Given the description of an element on the screen output the (x, y) to click on. 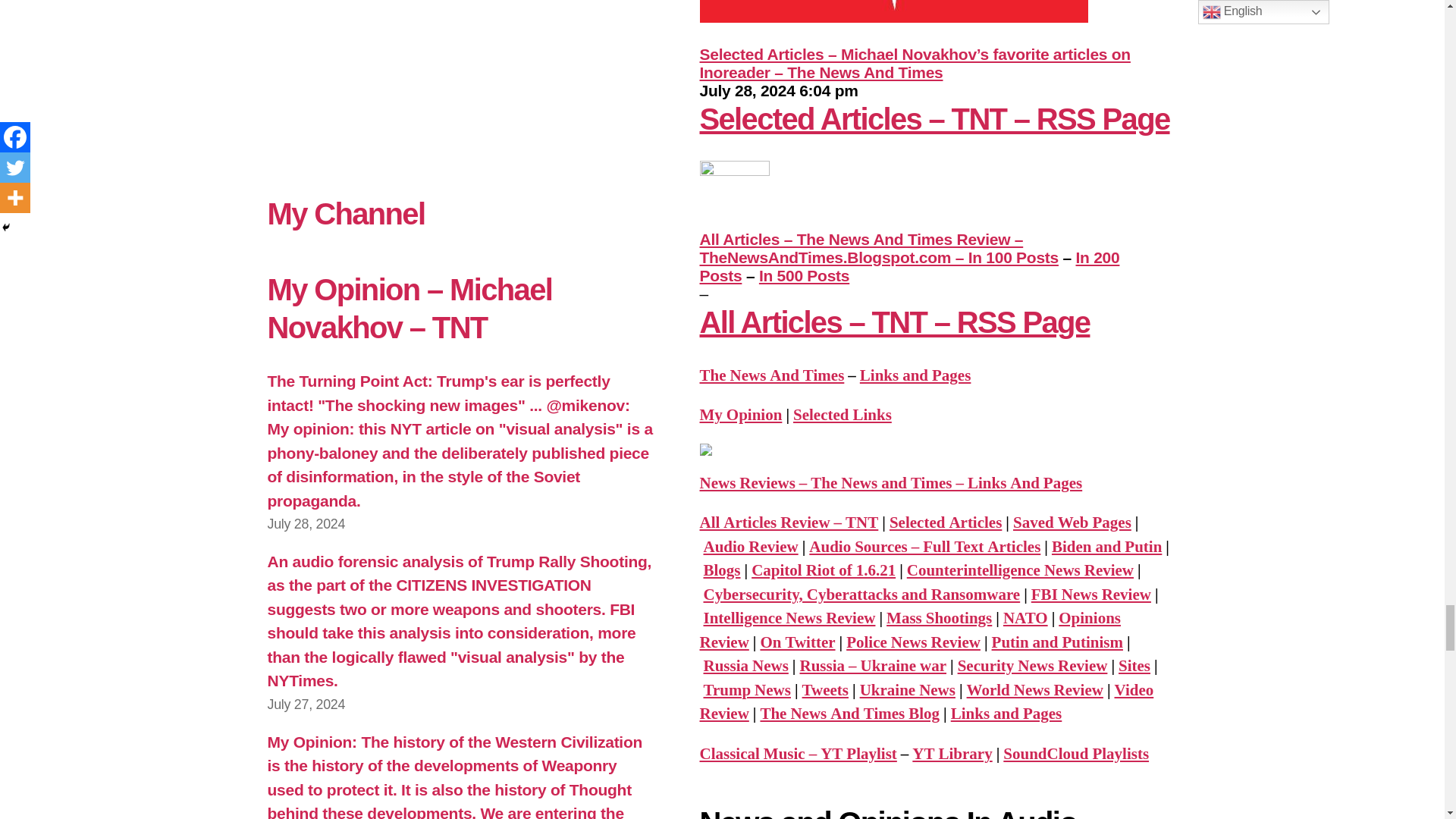
YouTube video player (459, 78)
